Given the description of an element on the screen output the (x, y) to click on. 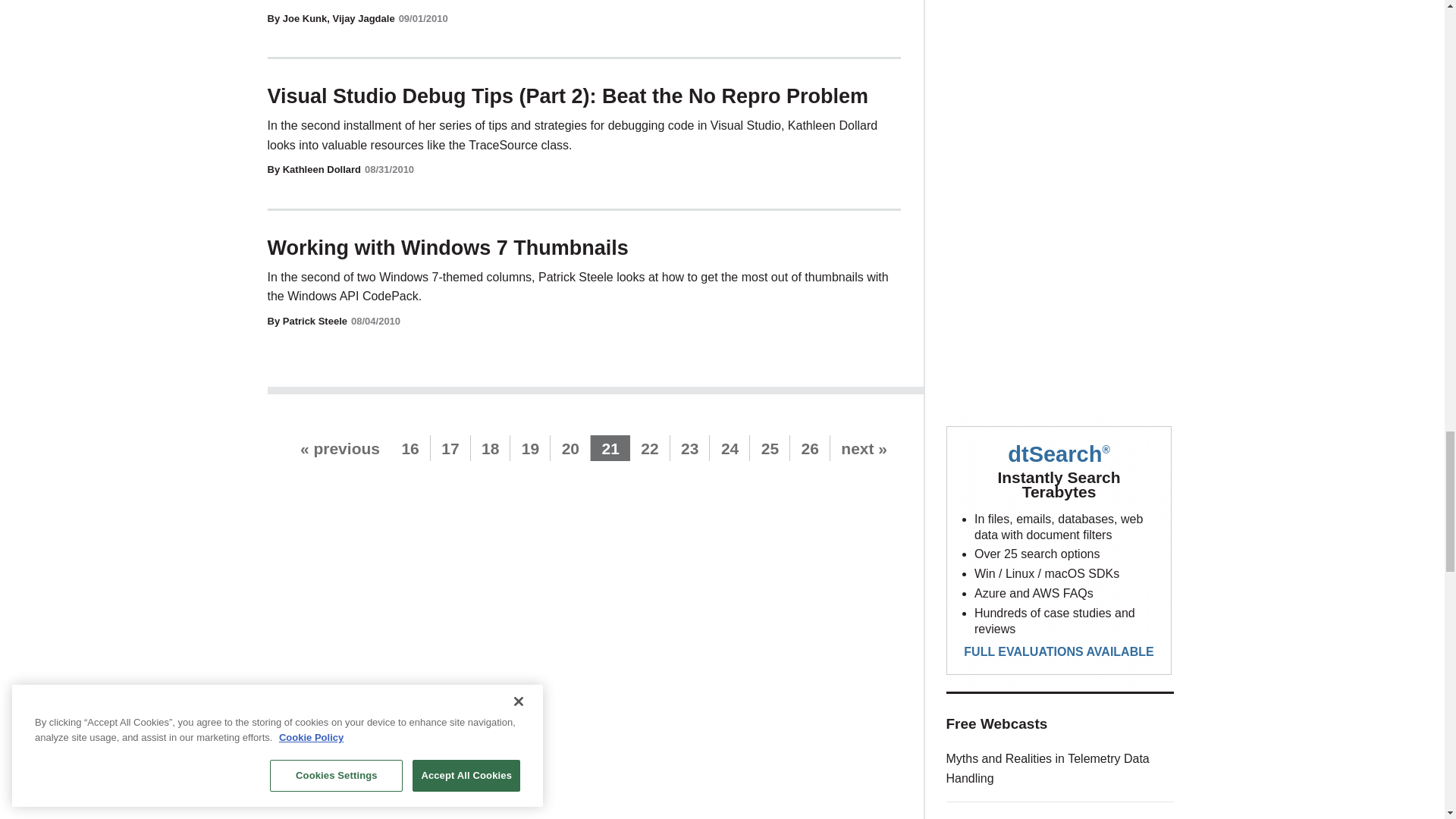
3rd party ad content (1059, 72)
3rd party ad content (1059, 278)
